Given the description of an element on the screen output the (x, y) to click on. 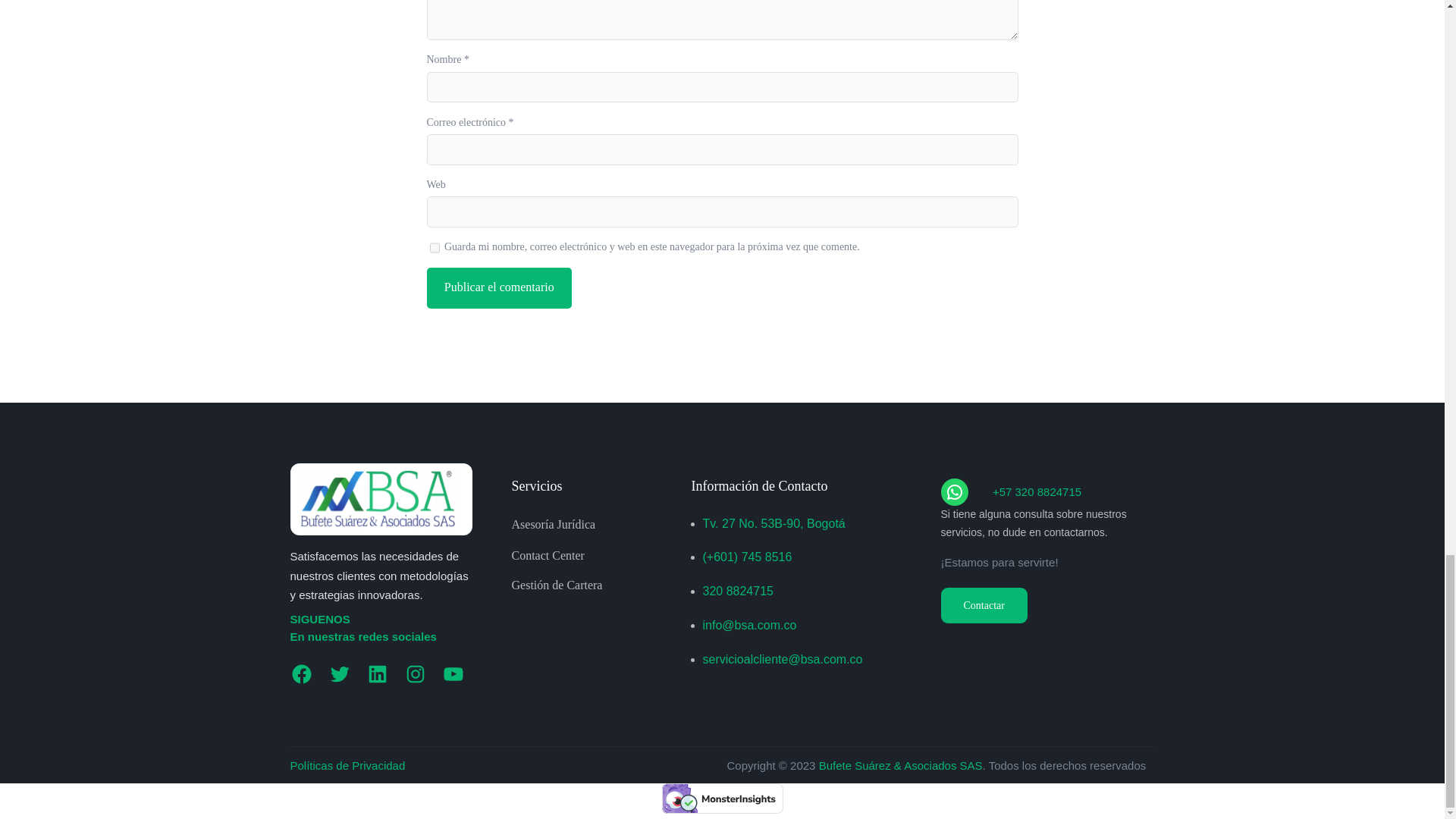
Publicar el comentario (498, 287)
Twitter (338, 673)
Verificado por MonsterInsights (722, 798)
YouTube (452, 673)
LinkedIn (376, 673)
Facebook (301, 673)
Publicar el comentario (498, 287)
Instagram (414, 673)
